Given the description of an element on the screen output the (x, y) to click on. 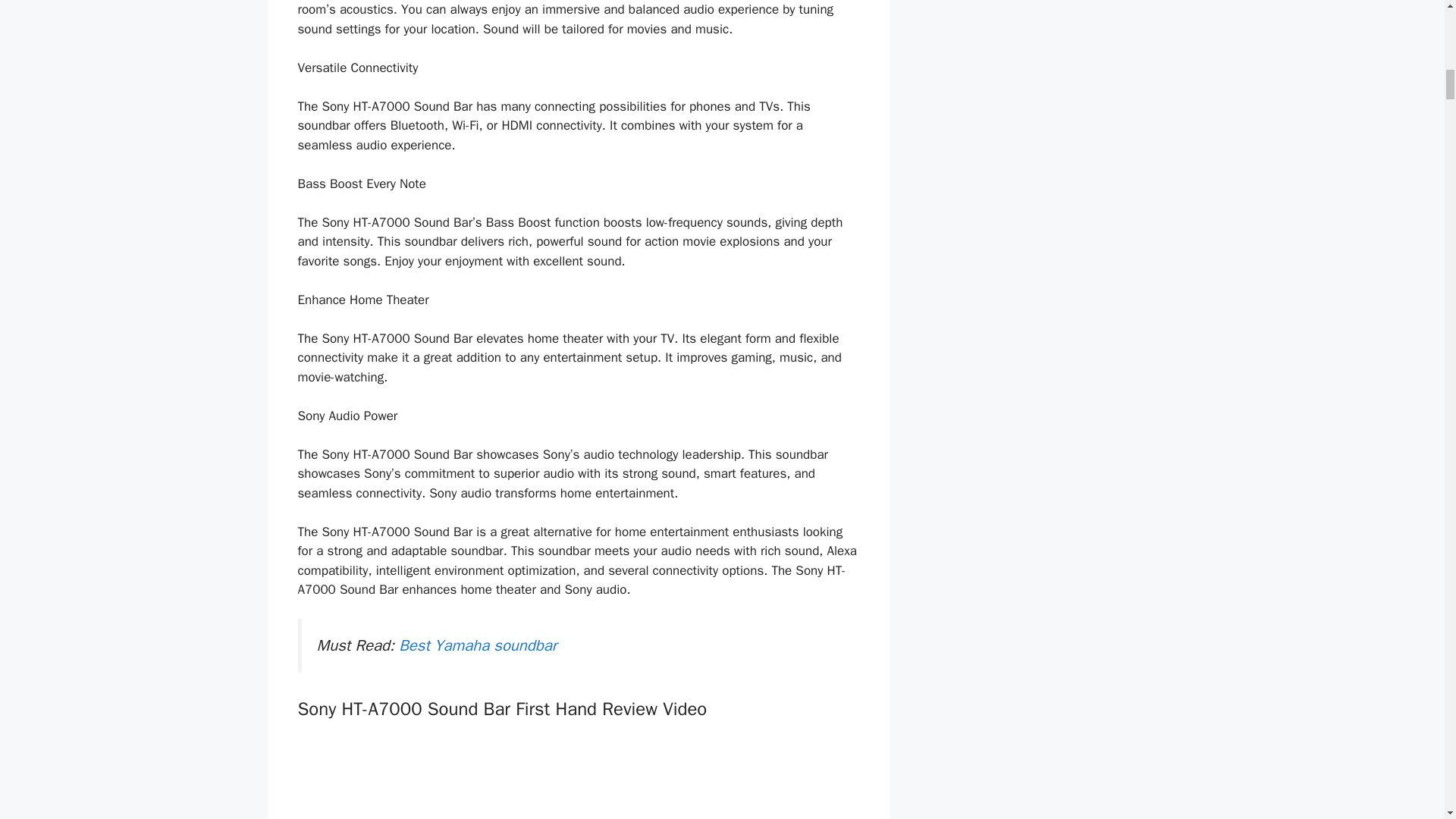
The Soundbar You Won't Regret Buying - Sony HT-A7000 (578, 778)
